Given the description of an element on the screen output the (x, y) to click on. 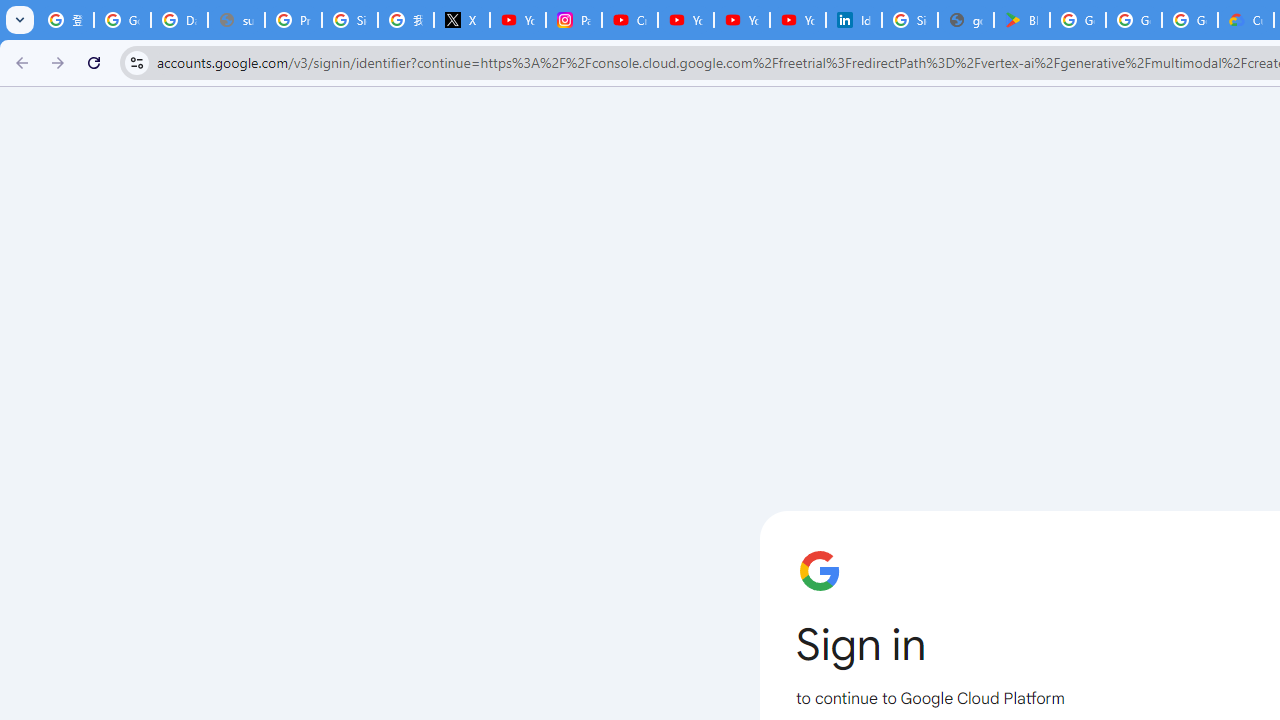
X (461, 20)
Bluey: Let's Play! - Apps on Google Play (1021, 20)
YouTube Culture & Trends - YouTube Top 10, 2021 (742, 20)
